Given the description of an element on the screen output the (x, y) to click on. 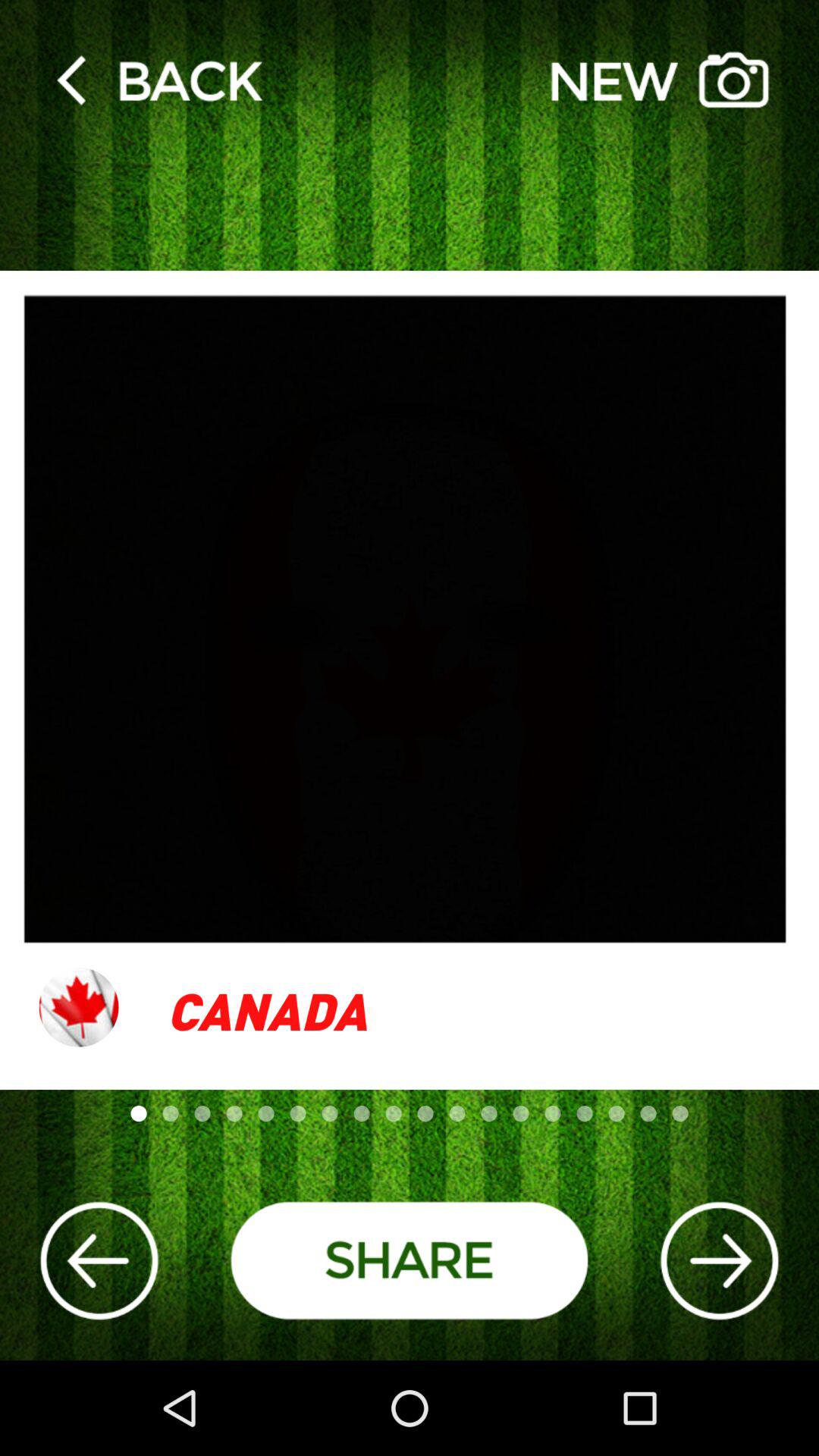
take picture (659, 79)
